Given the description of an element on the screen output the (x, y) to click on. 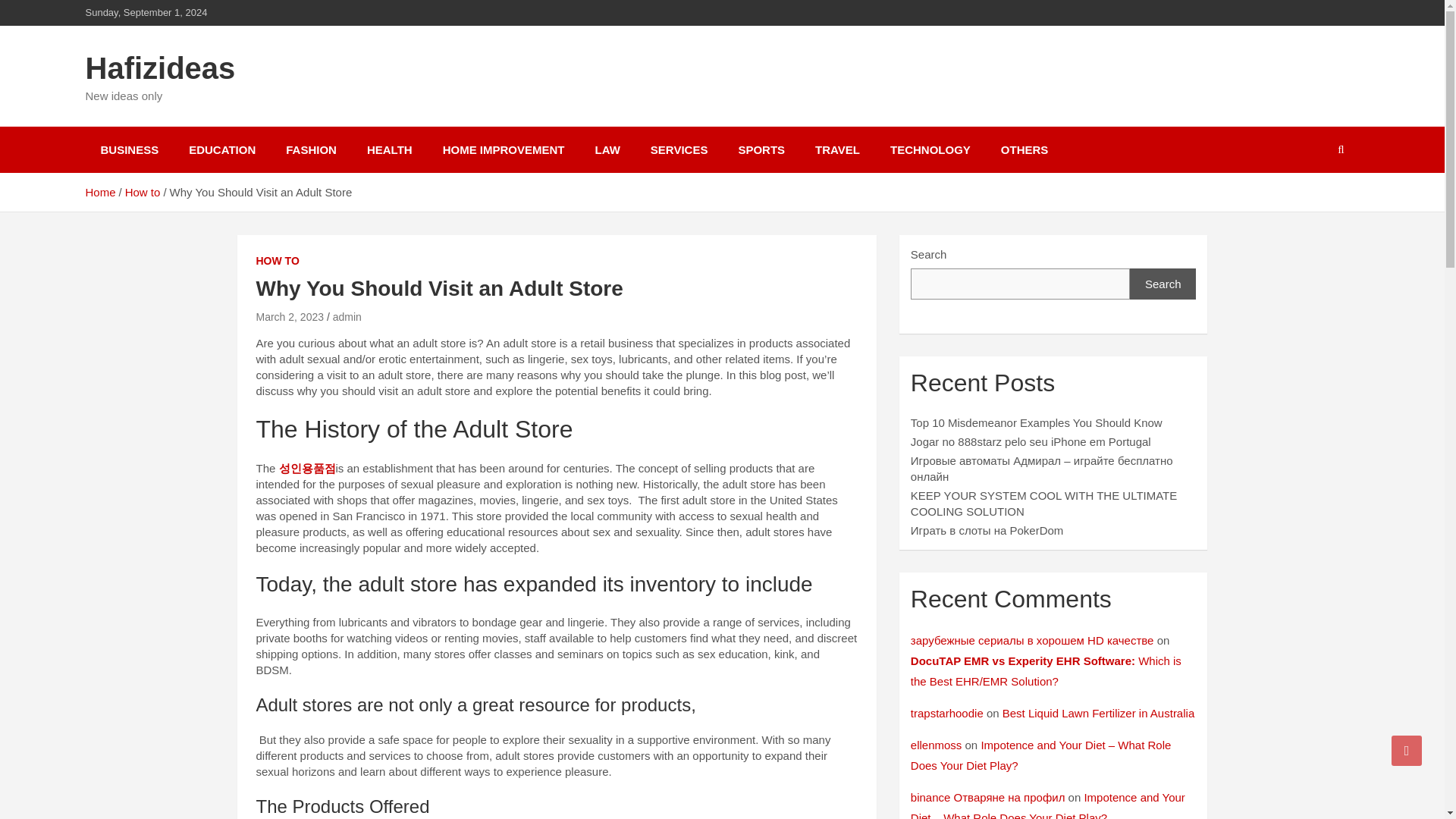
EDUCATION (221, 149)
TECHNOLOGY (930, 149)
FASHION (311, 149)
Why You Should Visit an Adult Store (290, 316)
OTHERS (1024, 149)
trapstarhoodie (947, 712)
Jogar no 888starz pelo seu iPhone em Portugal (1031, 440)
HEALTH (390, 149)
Top 10 Misdemeanor Examples You Should Know (1036, 422)
ellenmoss (936, 744)
